Given the description of an element on the screen output the (x, y) to click on. 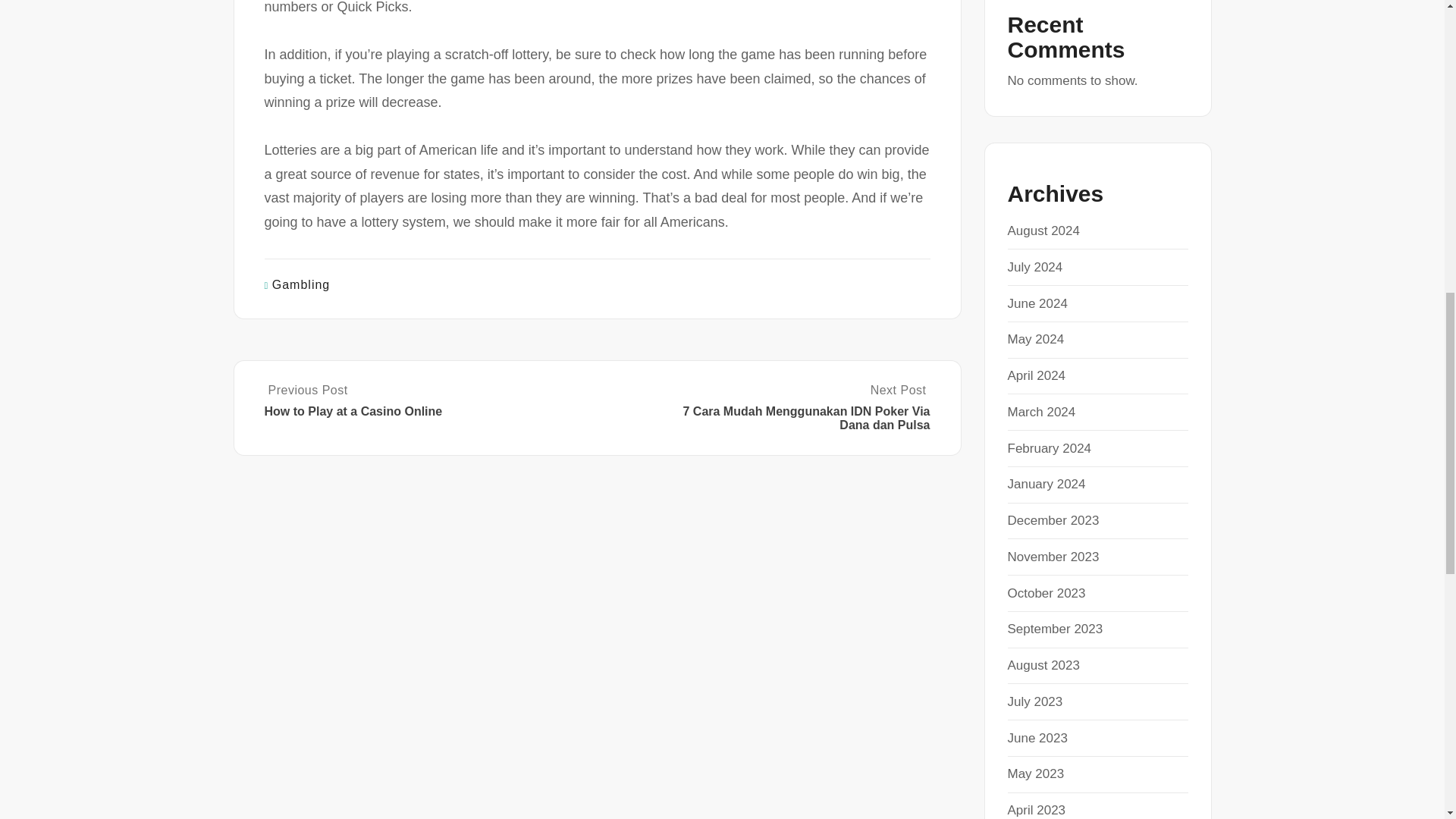
May 2024 (1035, 339)
July 2024 (1034, 267)
May 2023 (1035, 773)
April 2024 (1036, 375)
July 2023 (1034, 701)
February 2024 (1048, 448)
October 2023 (1045, 593)
November 2023 (1053, 556)
April 2023 (1036, 810)
June 2023 (1037, 738)
August 2024 (1042, 230)
September 2023 (1054, 628)
Gambling (301, 284)
